Given the description of an element on the screen output the (x, y) to click on. 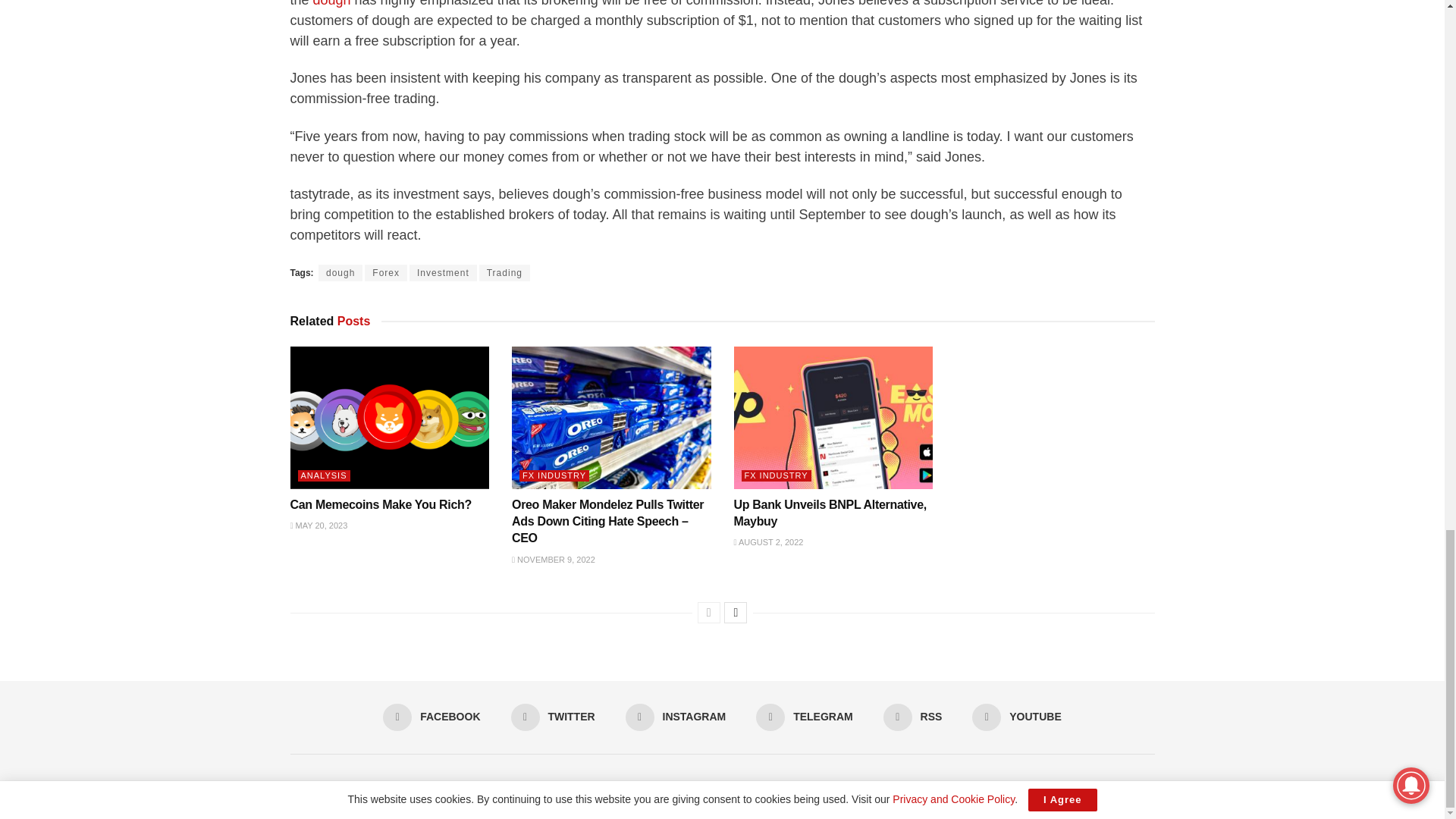
Next (734, 612)
Previous (708, 612)
